Given the description of an element on the screen output the (x, y) to click on. 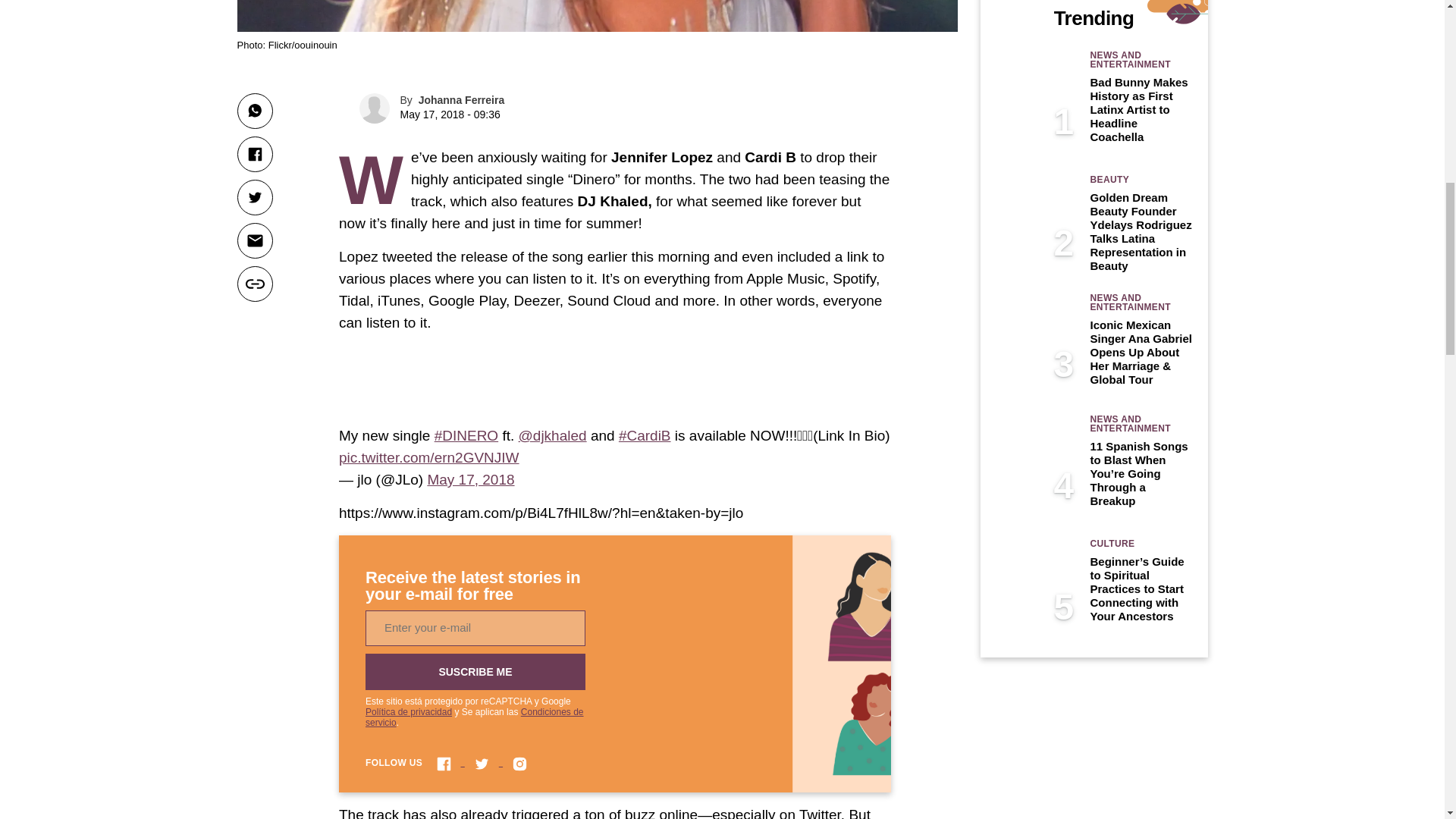
Johanna Ferreira (462, 100)
Share this article on WhatsApp (253, 110)
Share this article on Facebook (253, 153)
